Given the description of an element on the screen output the (x, y) to click on. 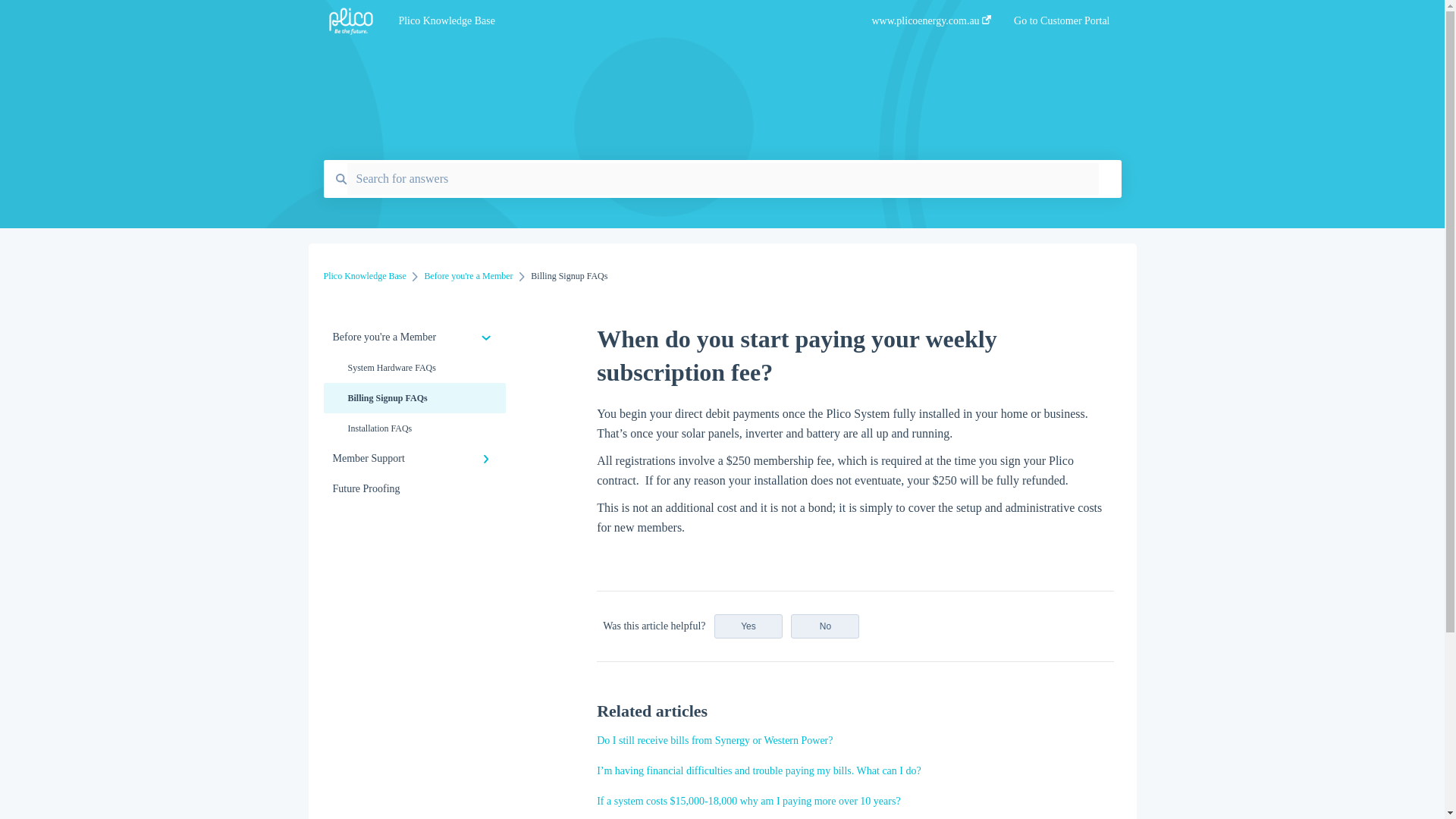
Installation FAQs (414, 428)
No (824, 626)
Plico Knowledge Base (364, 276)
Go to Customer Portal (1061, 25)
www.plicoenergy.com.au (930, 25)
Do I still receive bills from Synergy or Western Power? (714, 740)
Yes (748, 626)
Plico Knowledge Base (611, 21)
Before you're a Member (469, 276)
Billing Signup FAQs (414, 398)
Member Support (414, 458)
Future Proofing (414, 489)
Before you're a Member (414, 337)
System Hardware FAQs (414, 367)
